Given the description of an element on the screen output the (x, y) to click on. 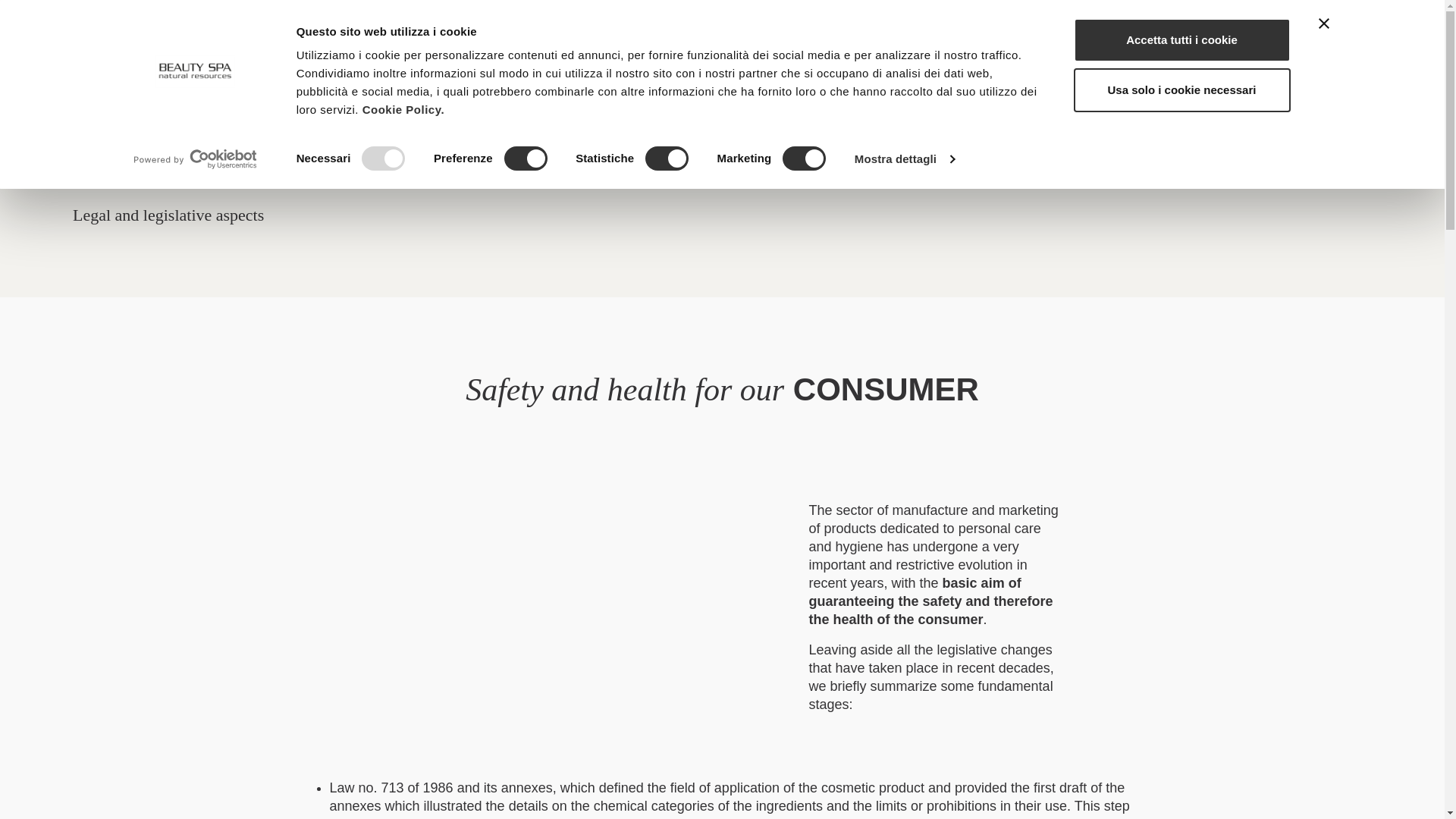
Cookie Policy. (403, 109)
Training (943, 53)
Treatments (567, 53)
Become a Beauty Spa beautician (761, 53)
Accetta tutti i cookie (1182, 40)
Usa solo i cookie necessari (1182, 89)
Mostra dettagli (904, 159)
About Us (313, 53)
Magazine (1044, 53)
